Given the description of an element on the screen output the (x, y) to click on. 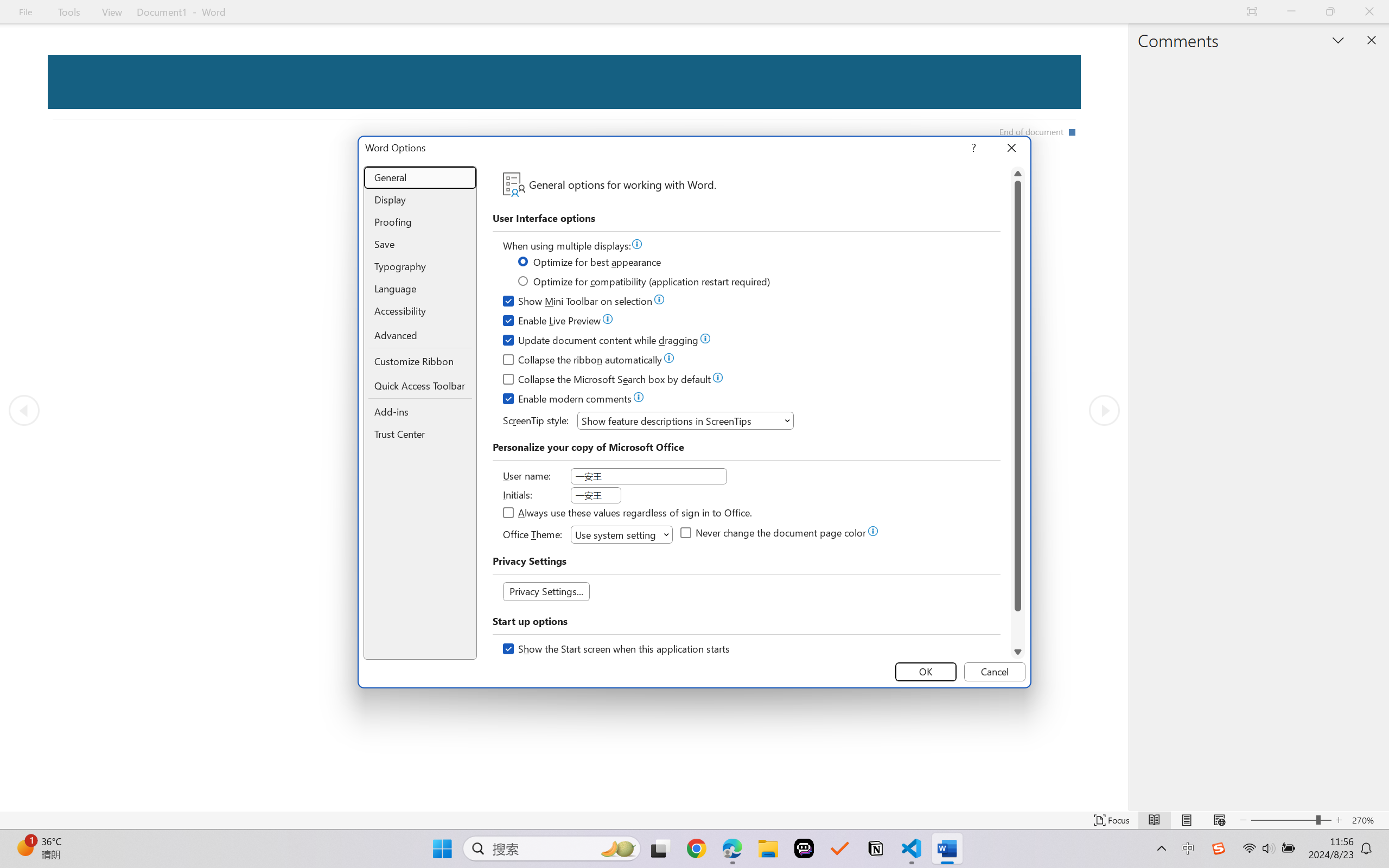
Ads and data (495, 109)
Cybersecurity (571, 71)
Privacy controls (278, 109)
Create your Google Account (311, 12)
Built-in security (197, 109)
Content safety (426, 71)
Online Data Security & Privacy - Google Safety Center (1157, 12)
Sign in - Google Accounts (87, 12)
Sign in - Google Accounts (400, 12)
Security and privacy (340, 71)
